Given the description of an element on the screen output the (x, y) to click on. 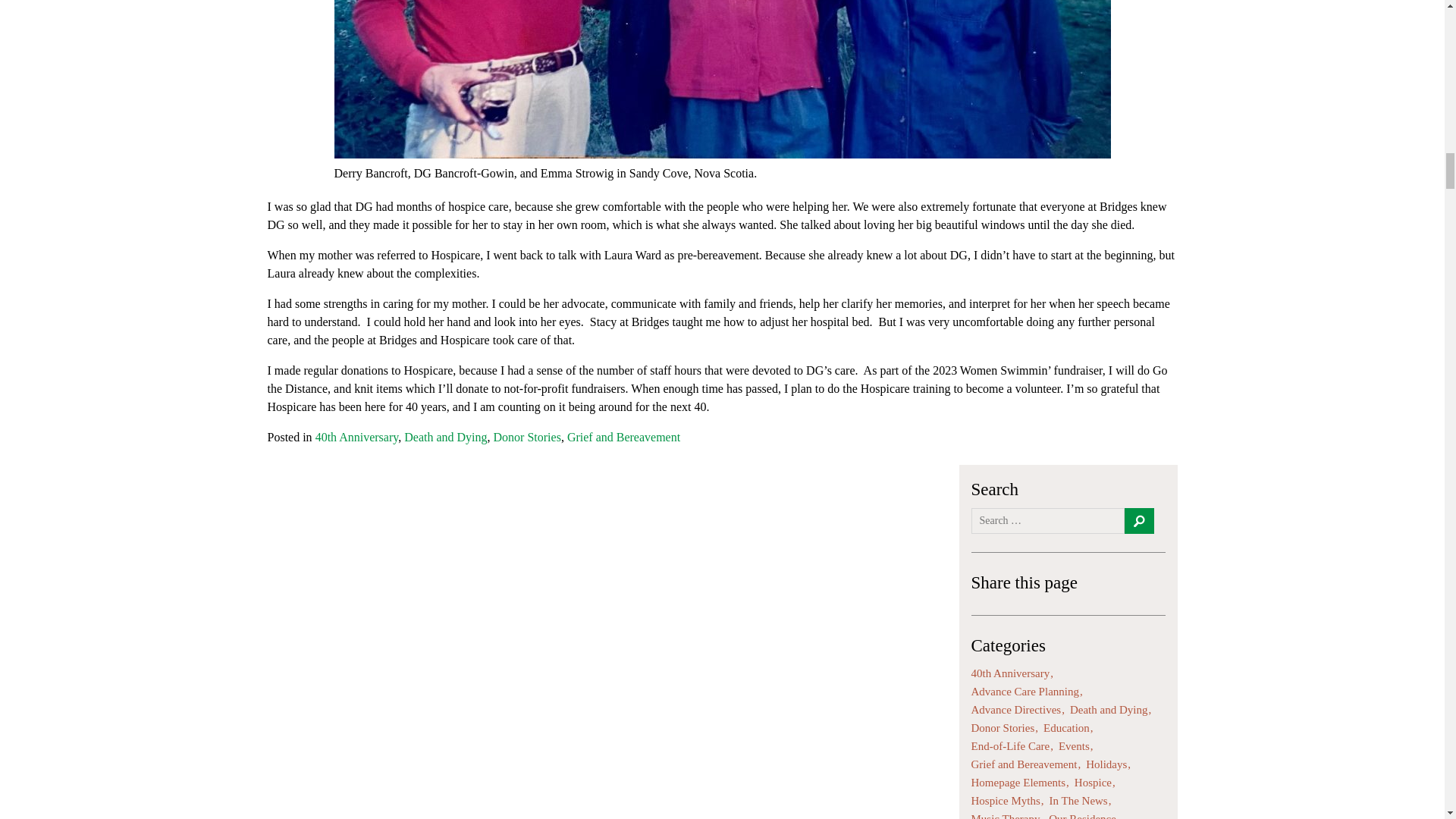
Search (1138, 520)
Search (1138, 520)
